Given the description of an element on the screen output the (x, y) to click on. 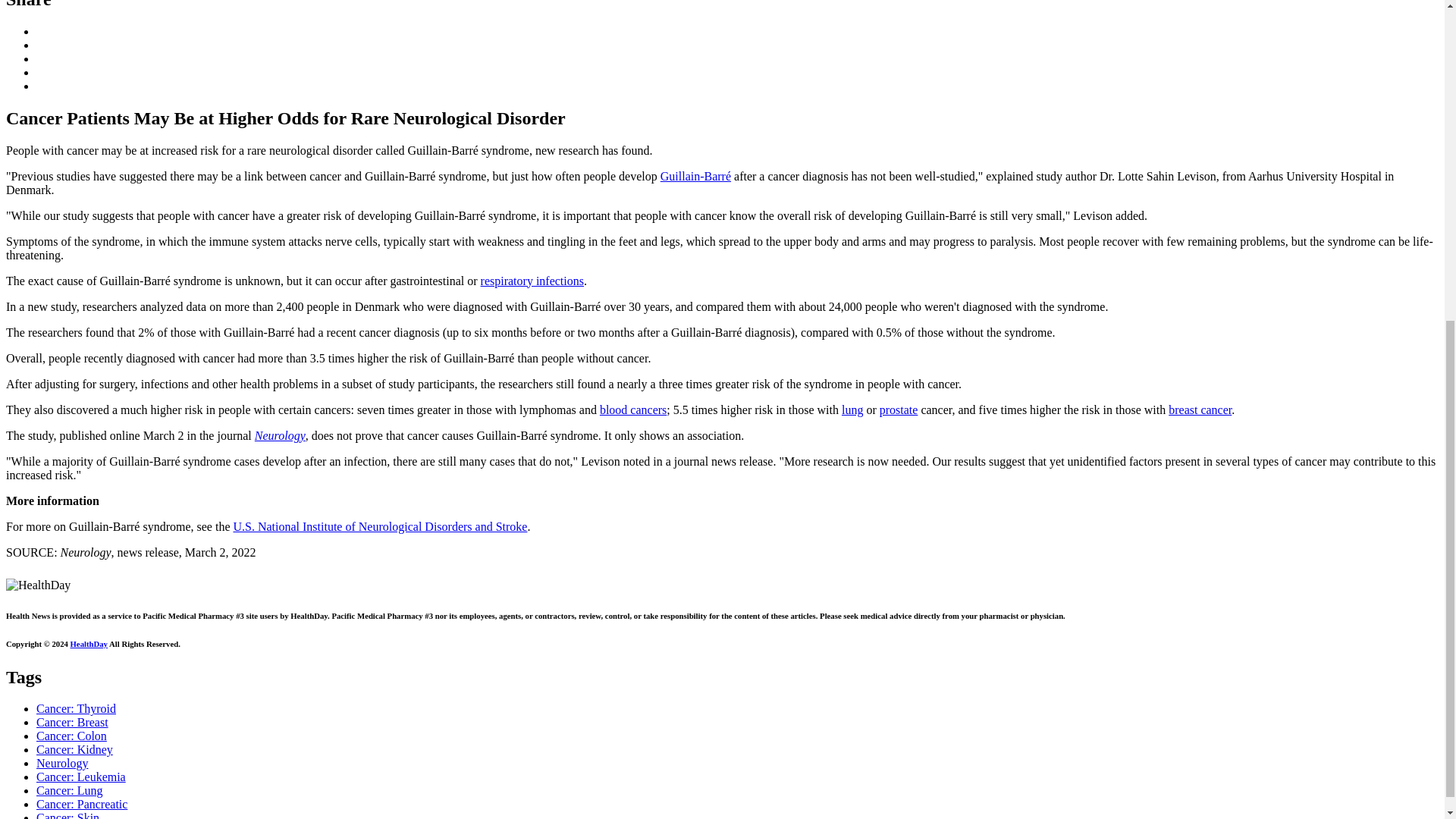
Cancer: Breast (71, 721)
Cancer: Leukemia (80, 776)
Cancer: Kidney (74, 748)
breast cancer (1200, 409)
Neurology (61, 762)
prostate (898, 409)
Cancer: Pancreatic (82, 803)
U.S. National Institute of Neurological Disorders and Stroke (379, 526)
respiratory infections (531, 280)
Neurology (279, 435)
blood cancers (632, 409)
Cancer: Lung (69, 789)
Cancer: Thyroid (76, 707)
Cancer: Colon (71, 735)
HealthDay (88, 643)
